Given the description of an element on the screen output the (x, y) to click on. 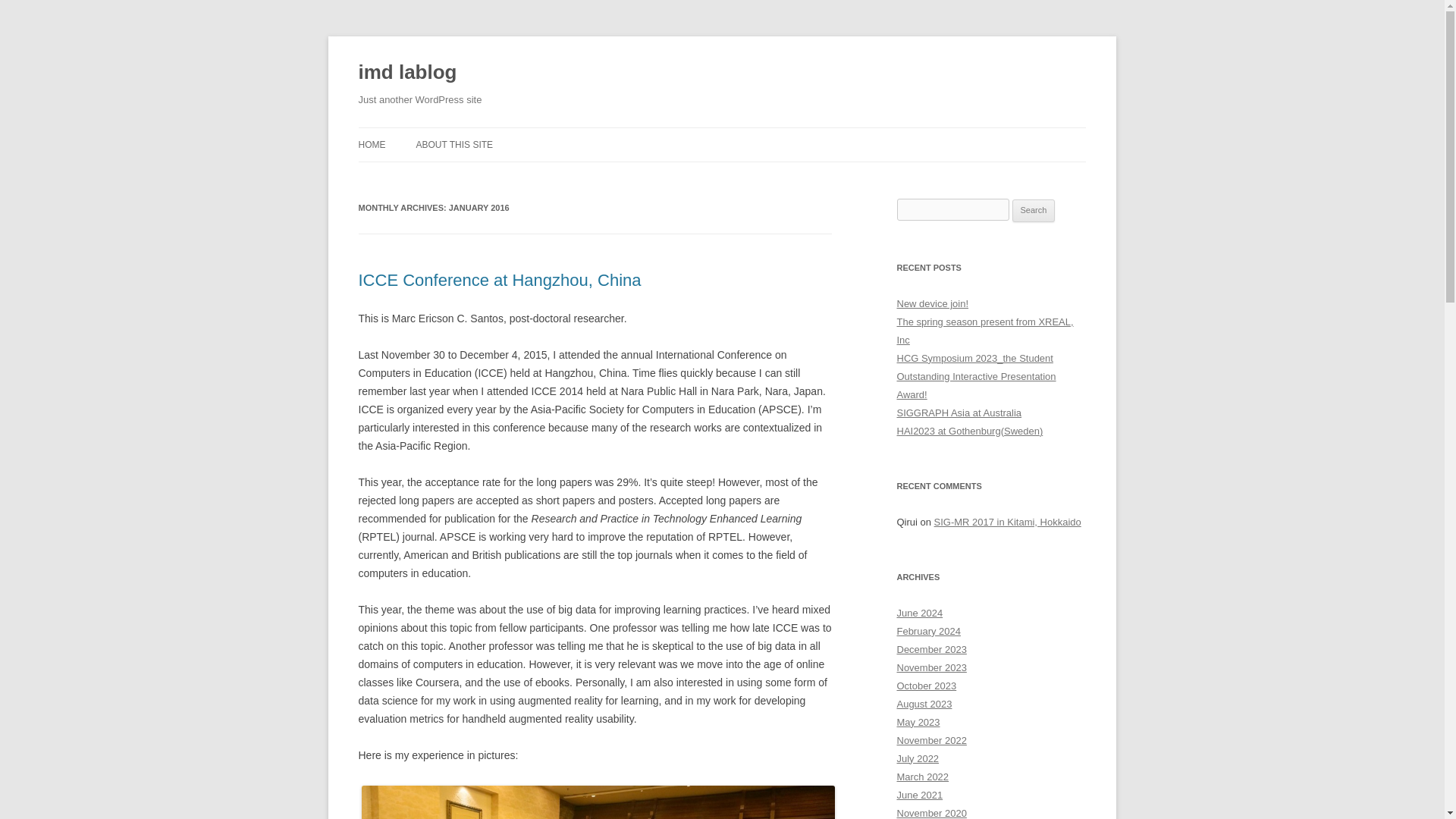
SIG-MR 2017 in Kitami, Hokkaido (1007, 521)
New device join! (932, 303)
ABOUT THIS SITE (453, 144)
December 2023 (931, 649)
June 2024 (919, 613)
November 2023 (931, 667)
June 2021 (919, 794)
February 2024 (927, 631)
October 2023 (926, 685)
